Given the description of an element on the screen output the (x, y) to click on. 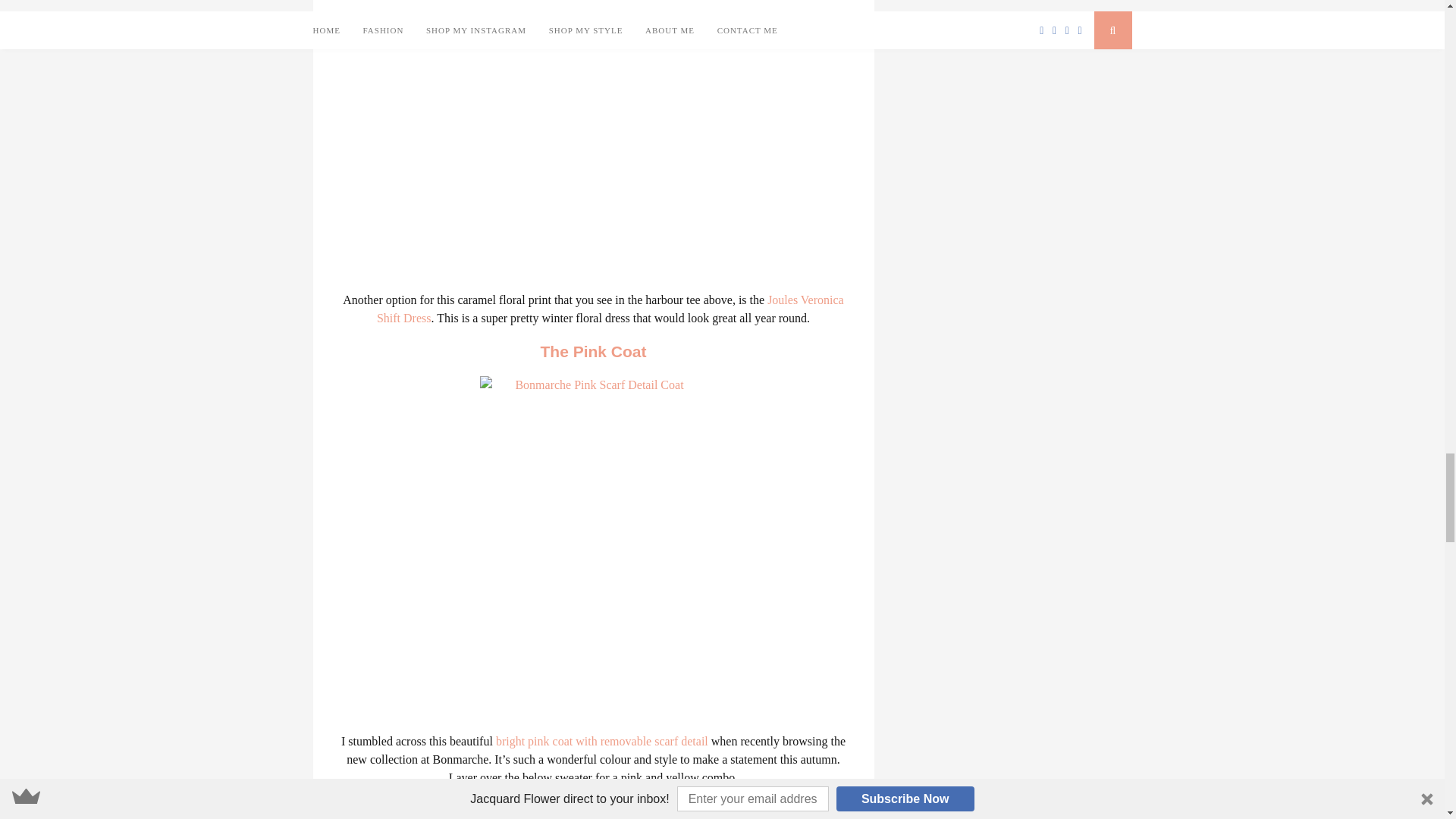
Joules Veronica Shift Dress (610, 308)
